Given the description of an element on the screen output the (x, y) to click on. 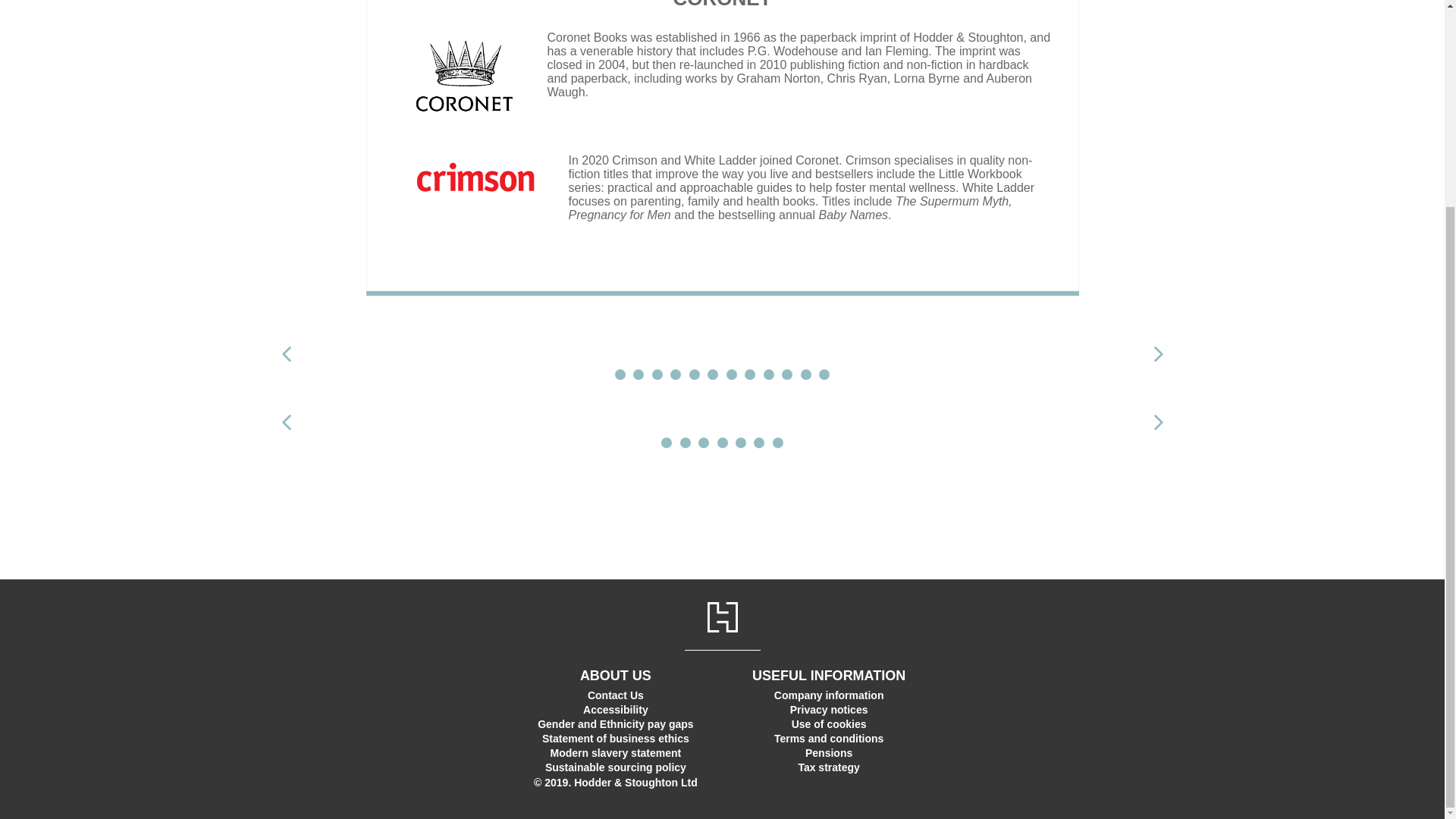
Arrow Icon Arrow icon (1157, 421)
Hachette Logo Large H Initial (721, 616)
Arrow Icon Arrow icon (285, 421)
Arrow Icon Arrow icon (285, 353)
Arrow Icon Arrow icon (1157, 353)
